Given the description of an element on the screen output the (x, y) to click on. 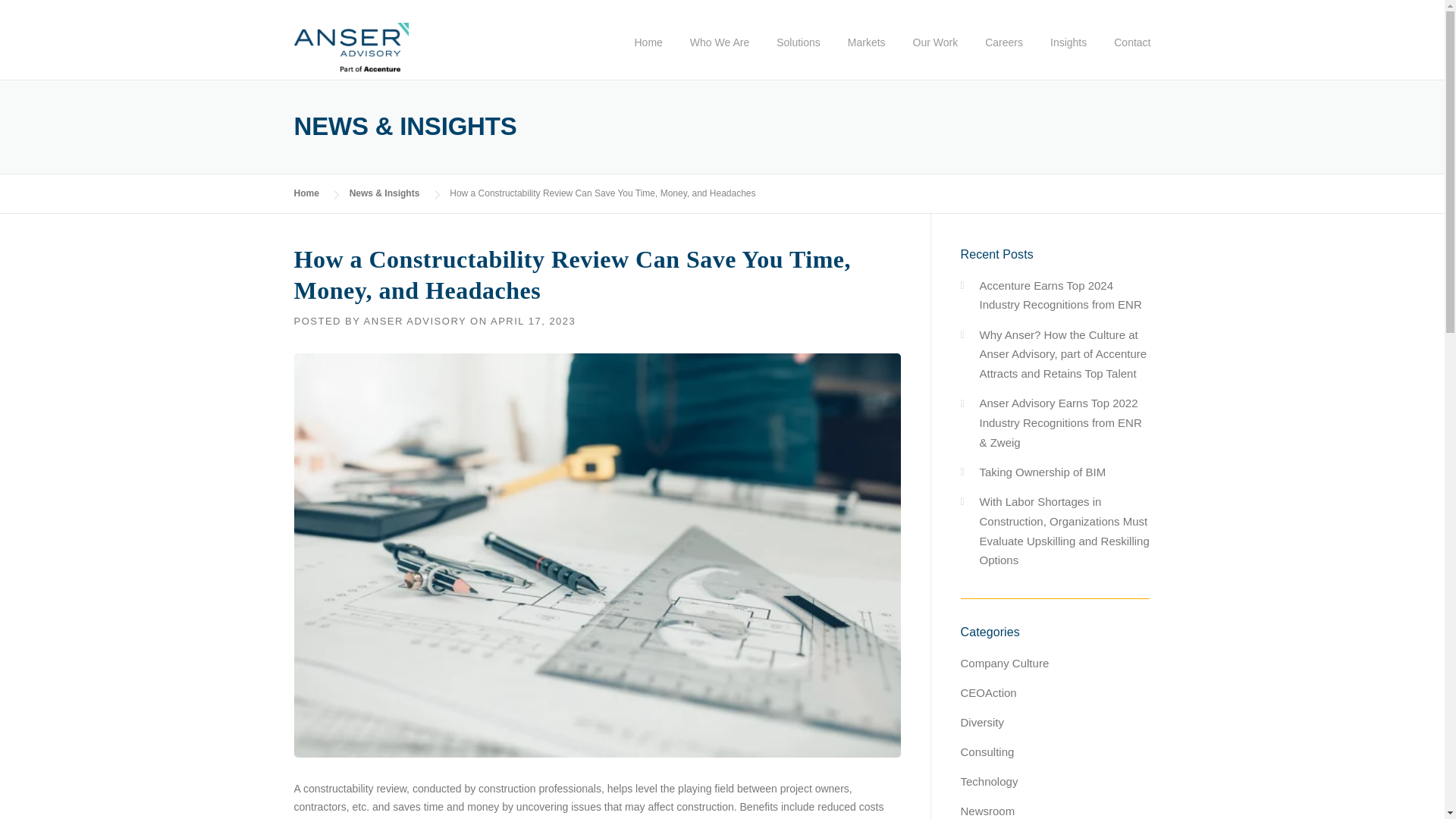
Who We Are (719, 54)
Solutions (798, 54)
Home (647, 54)
